Given the description of an element on the screen output the (x, y) to click on. 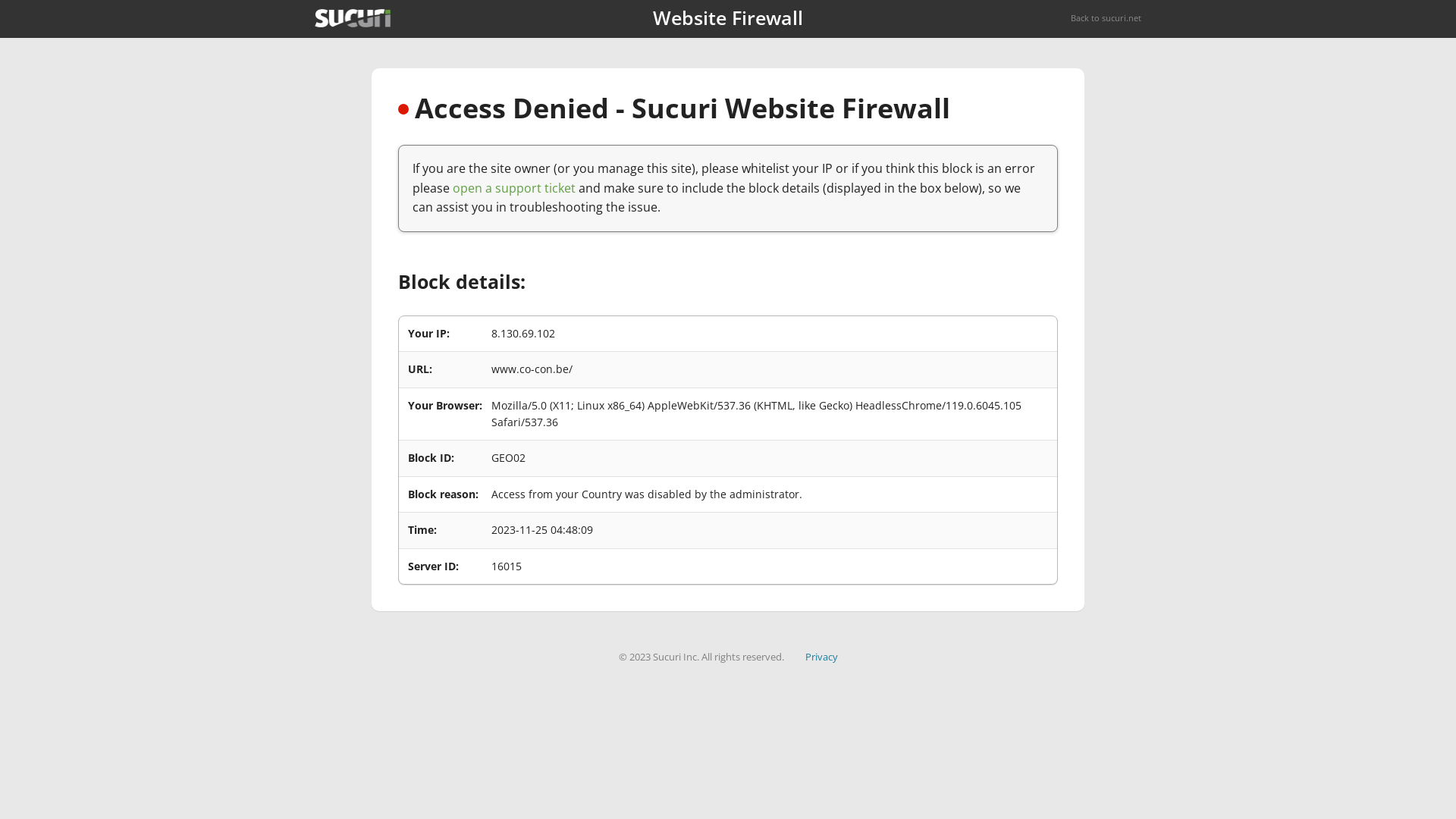
Privacy Element type: text (821, 656)
open a support ticket Element type: text (513, 187)
Back to sucuri.net Element type: text (1105, 18)
